Given the description of an element on the screen output the (x, y) to click on. 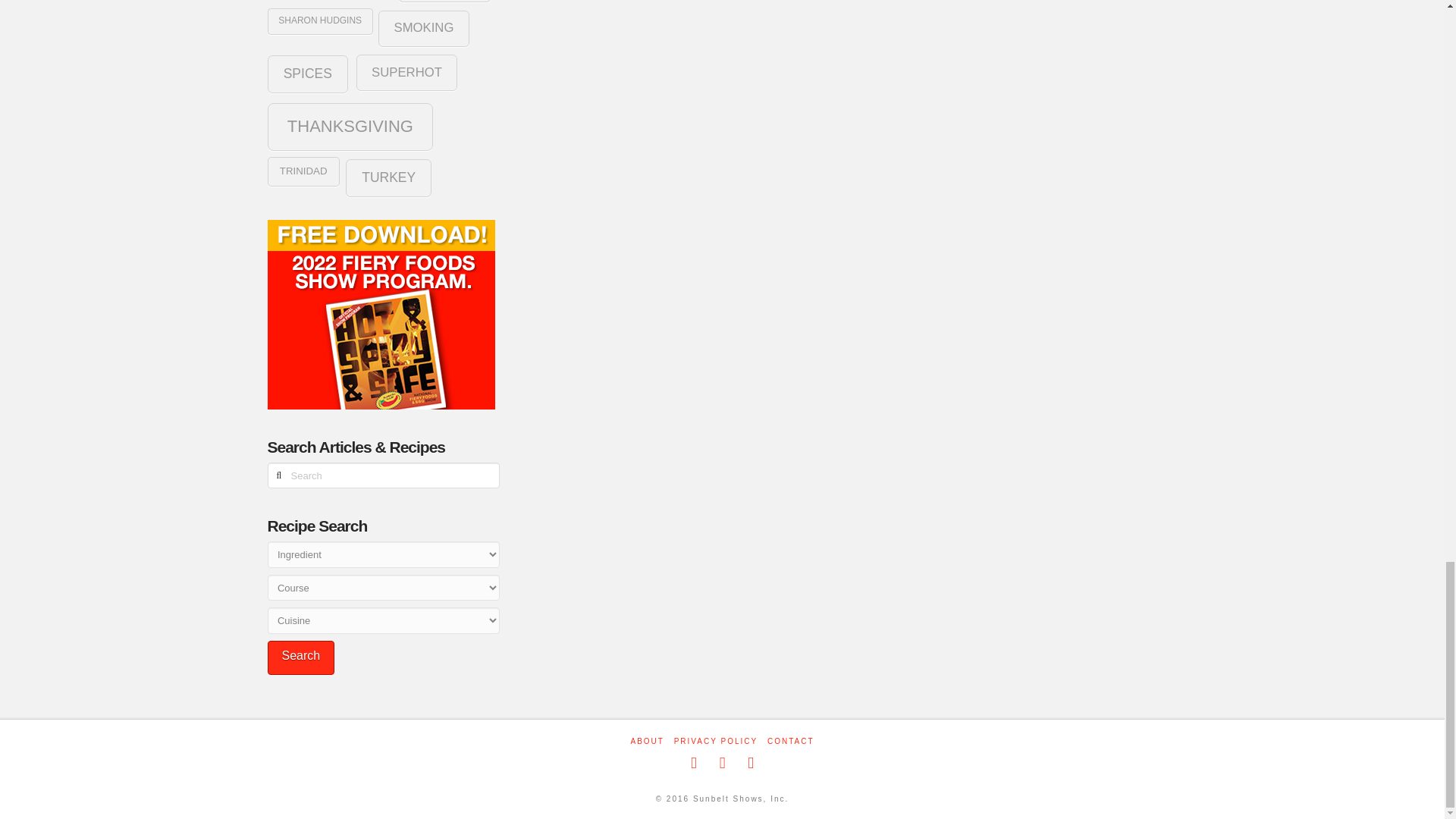
Privacy Policy (715, 740)
Search (300, 657)
About (646, 740)
Contact (790, 740)
